Given the description of an element on the screen output the (x, y) to click on. 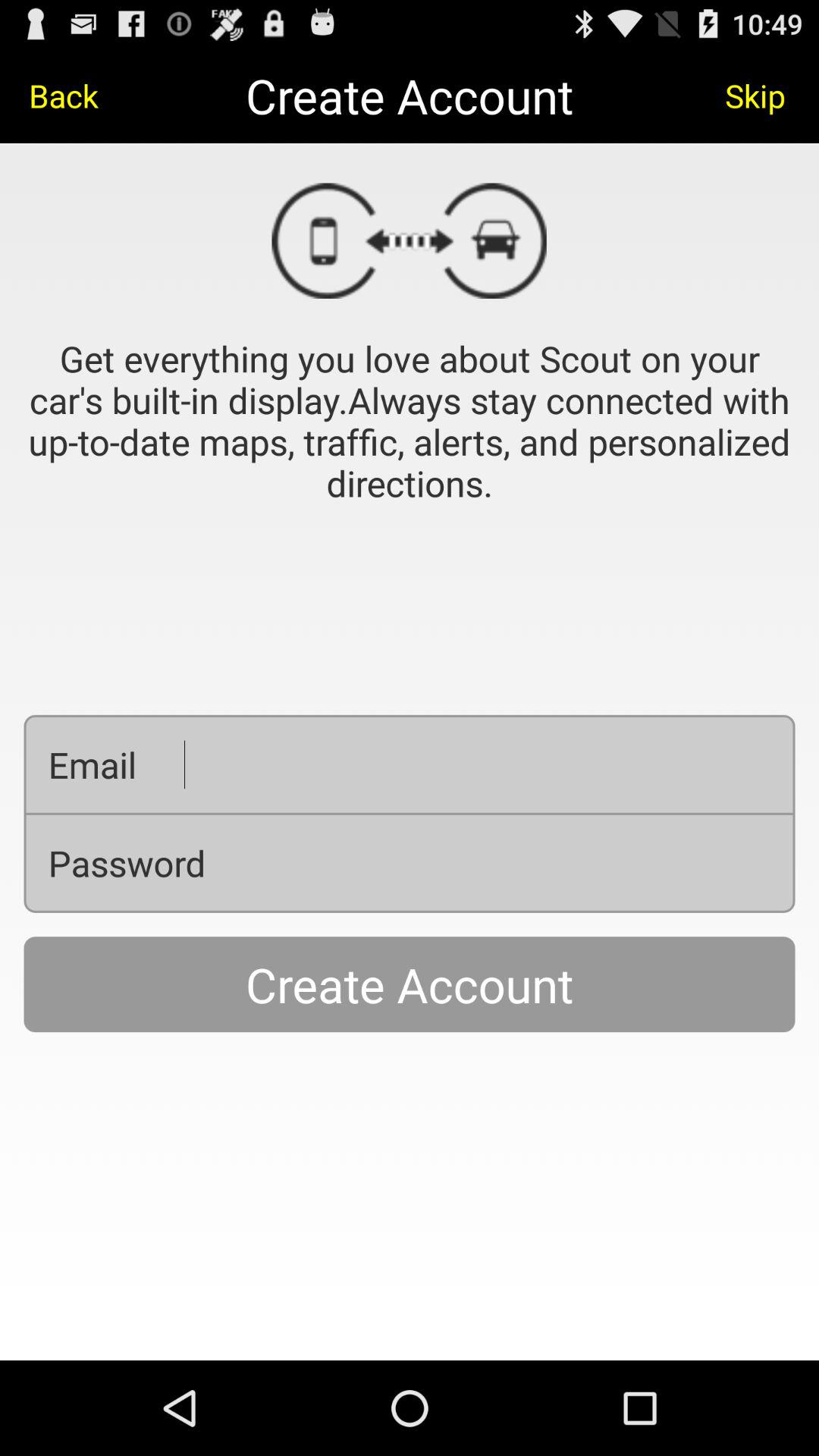
email required (477, 764)
